Given the description of an element on the screen output the (x, y) to click on. 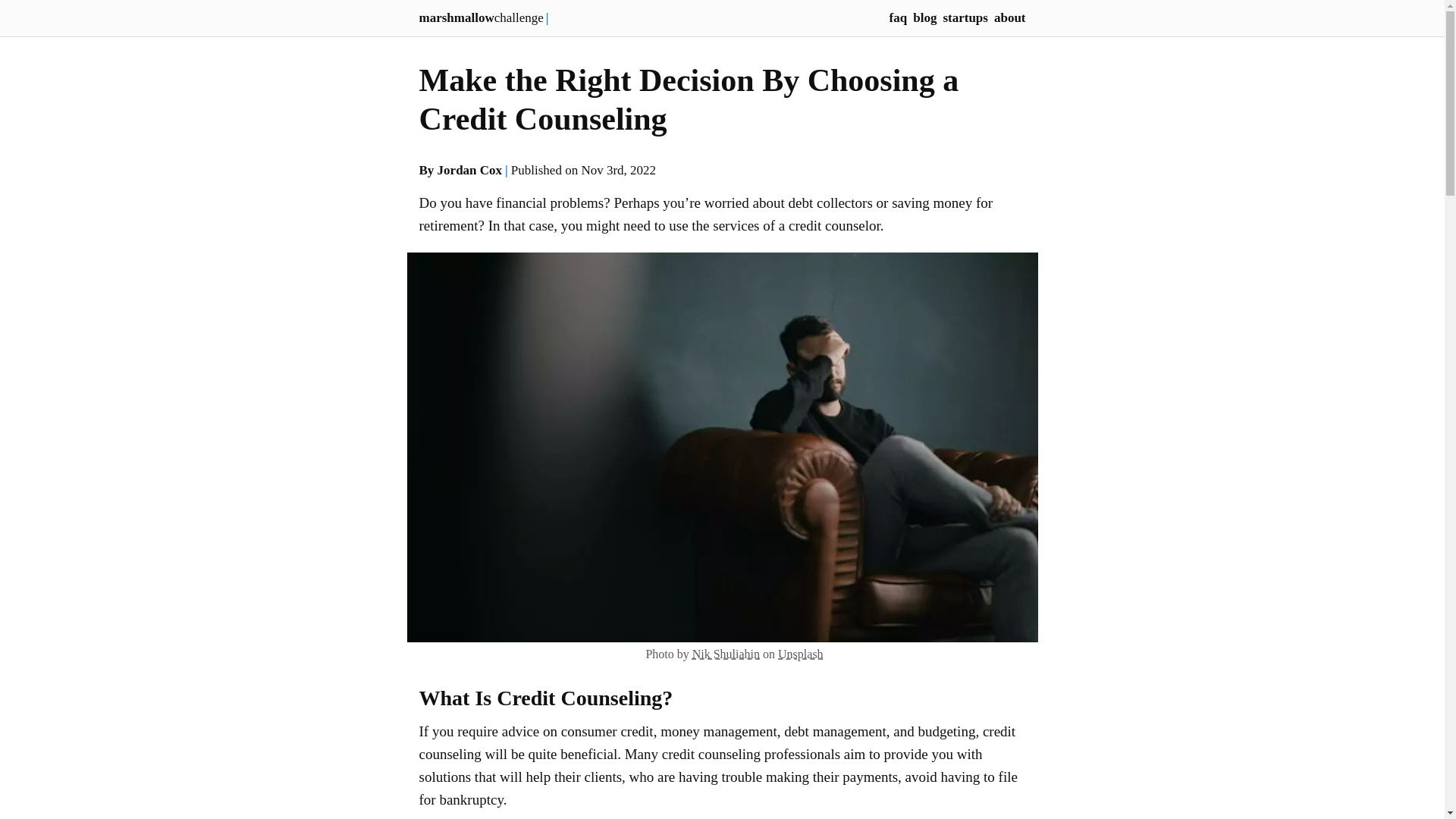
blog (924, 17)
Nik Shuliahin (726, 653)
faq (898, 17)
startups (965, 17)
about (1010, 17)
Unsplash (800, 653)
